Given the description of an element on the screen output the (x, y) to click on. 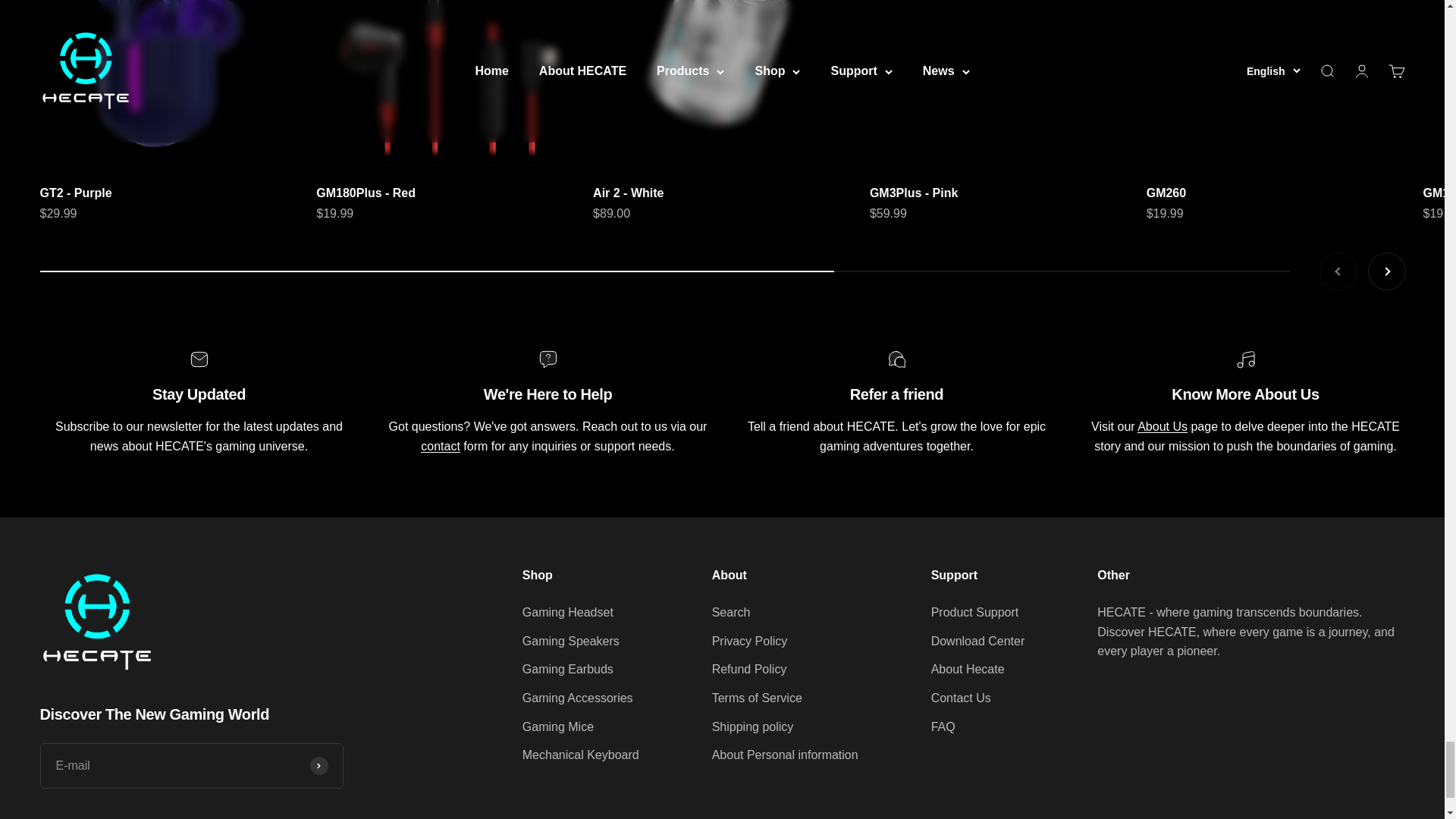
About Us (1362, 271)
About Us (728, 574)
Contact Us (1162, 426)
Product Support (440, 445)
